Given the description of an element on the screen output the (x, y) to click on. 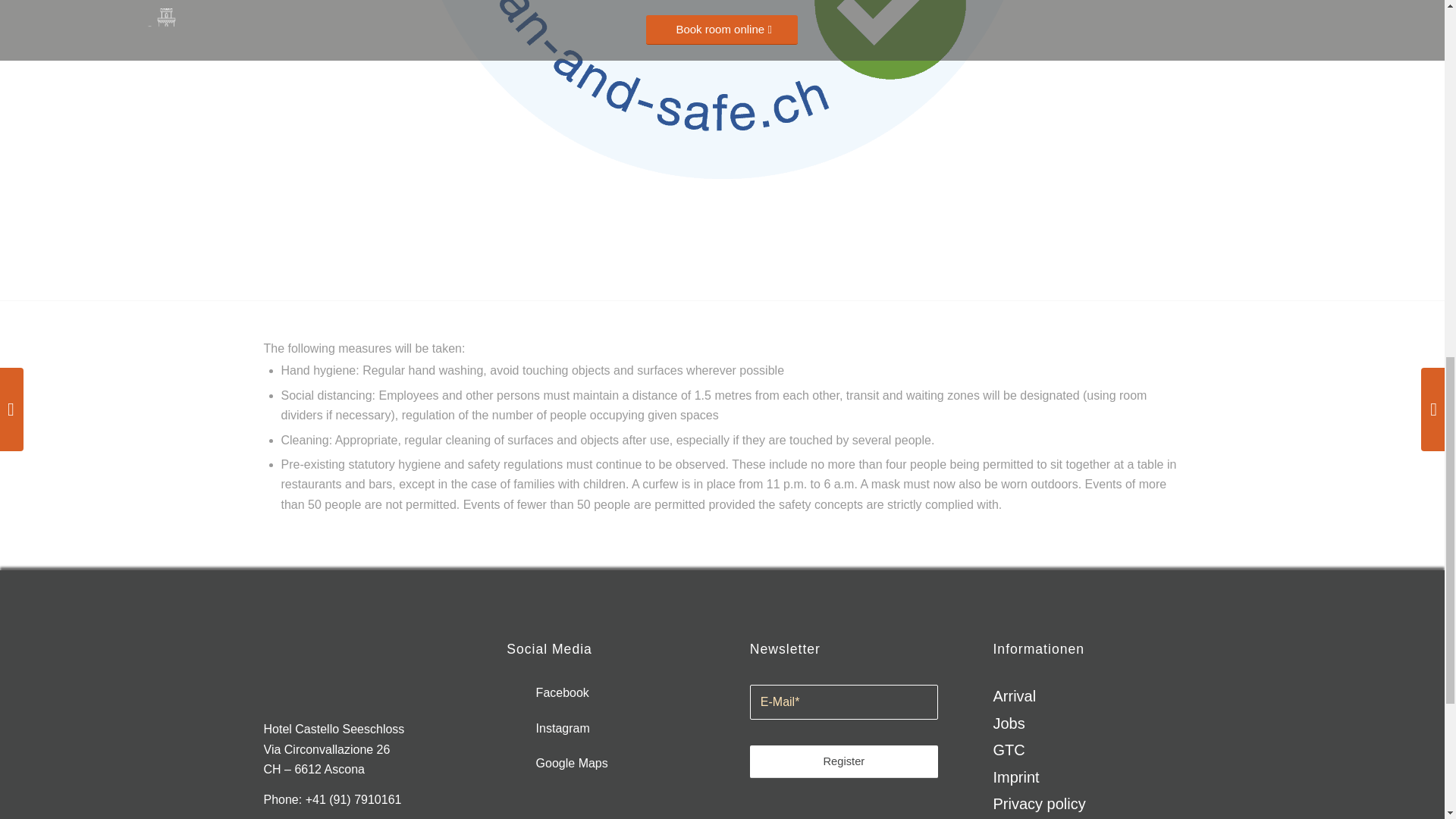
Imprint (1086, 777)
Register (843, 761)
Google Maps (557, 762)
Privacy policy (1086, 804)
ST0065300 (721, 89)
Facebook (547, 692)
GTC (1086, 750)
Jobs (1086, 723)
Register (843, 761)
Arrival (1086, 696)
Instagram (547, 727)
